Given the description of an element on the screen output the (x, y) to click on. 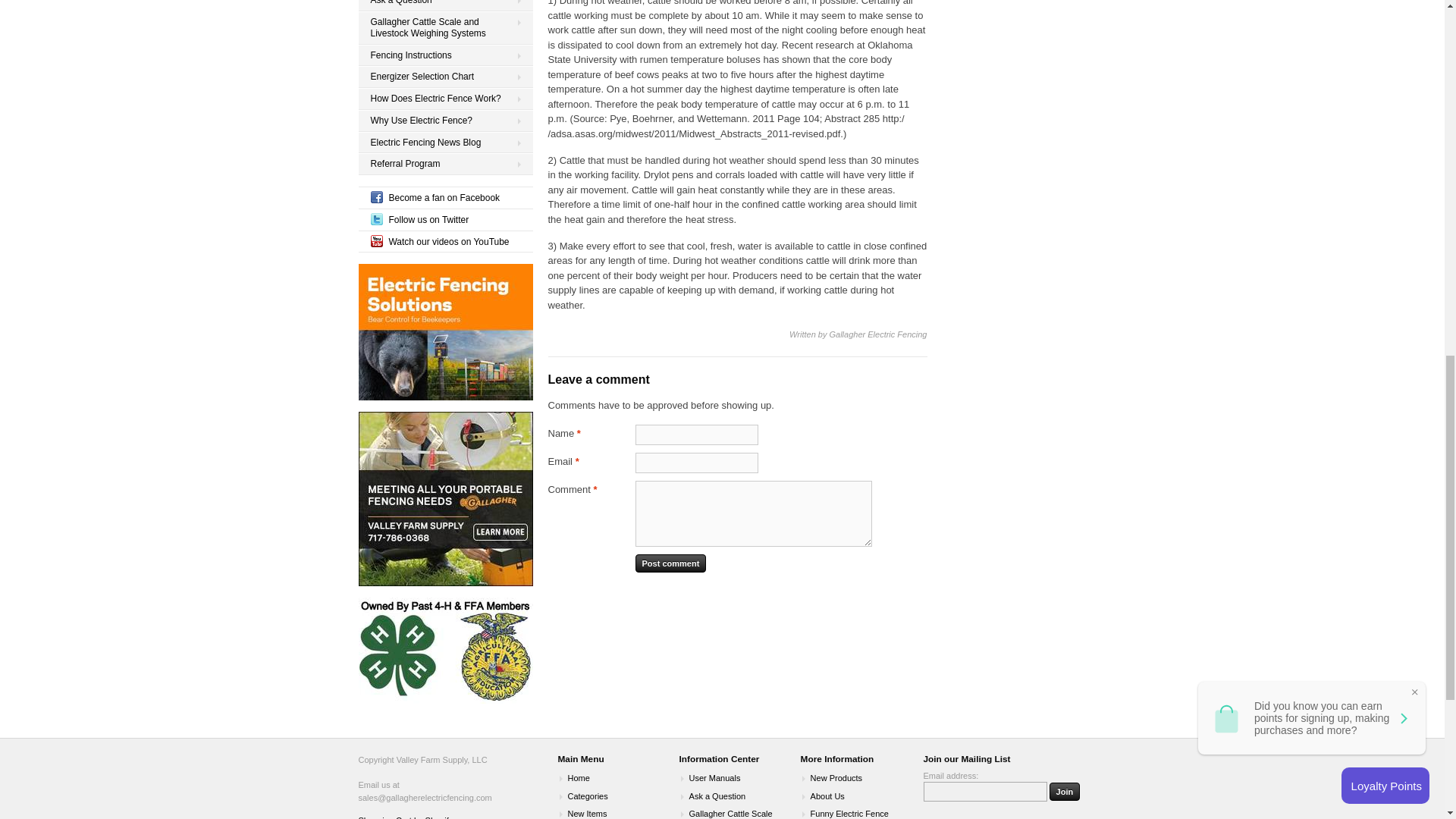
Post comment (670, 563)
Join (1064, 791)
Post comment (670, 563)
